Given the description of an element on the screen output the (x, y) to click on. 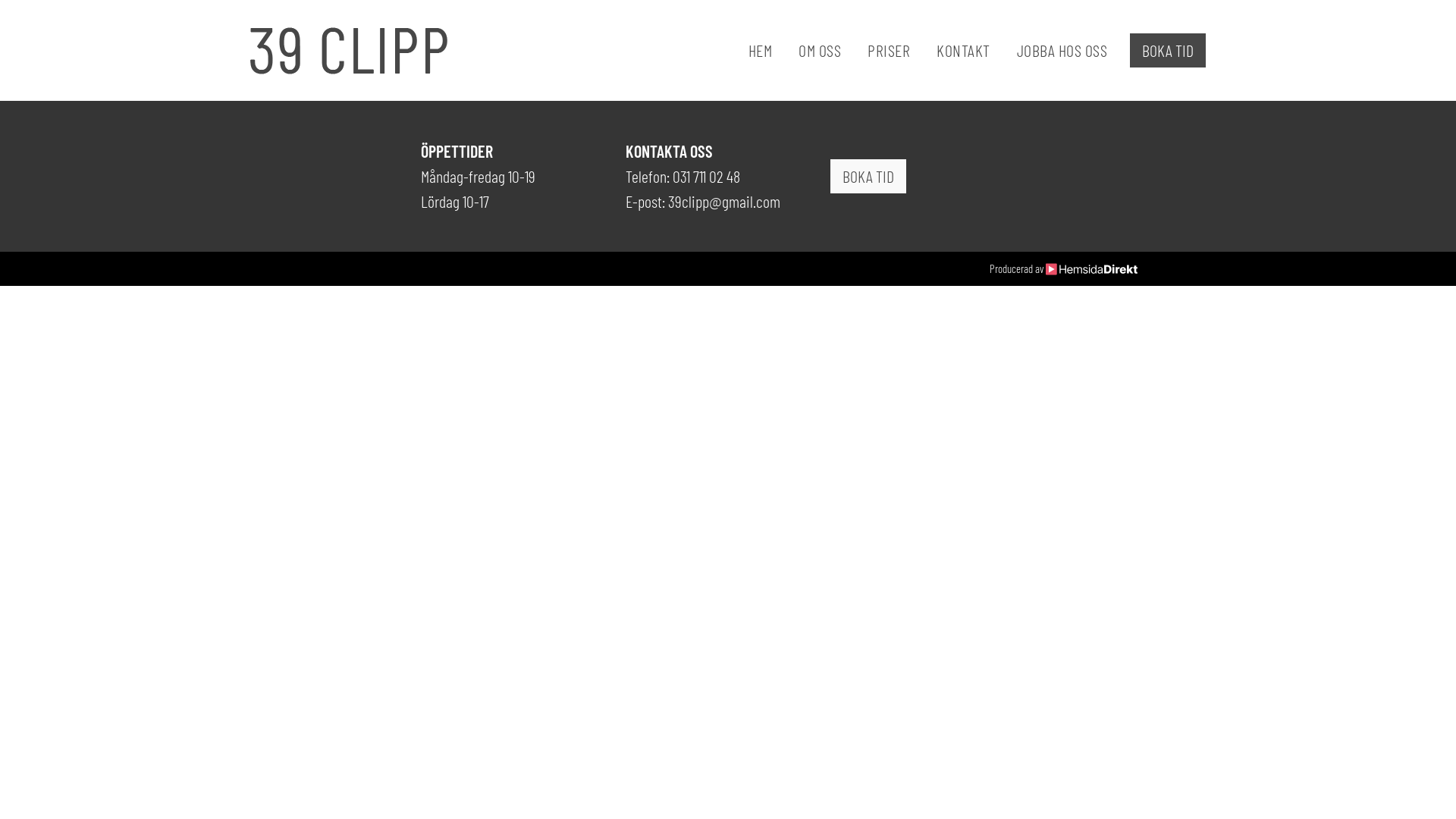
BOKA TID Element type: text (868, 176)
HEM Element type: text (746, 50)
JOBBA HOS OSS Element type: text (1048, 50)
BOKA TID Element type: text (1167, 50)
39clipp@gmail.com Element type: text (724, 200)
PRISER Element type: text (875, 50)
OM OSS Element type: text (805, 50)
KONTAKT Element type: text (950, 50)
